Given the description of an element on the screen output the (x, y) to click on. 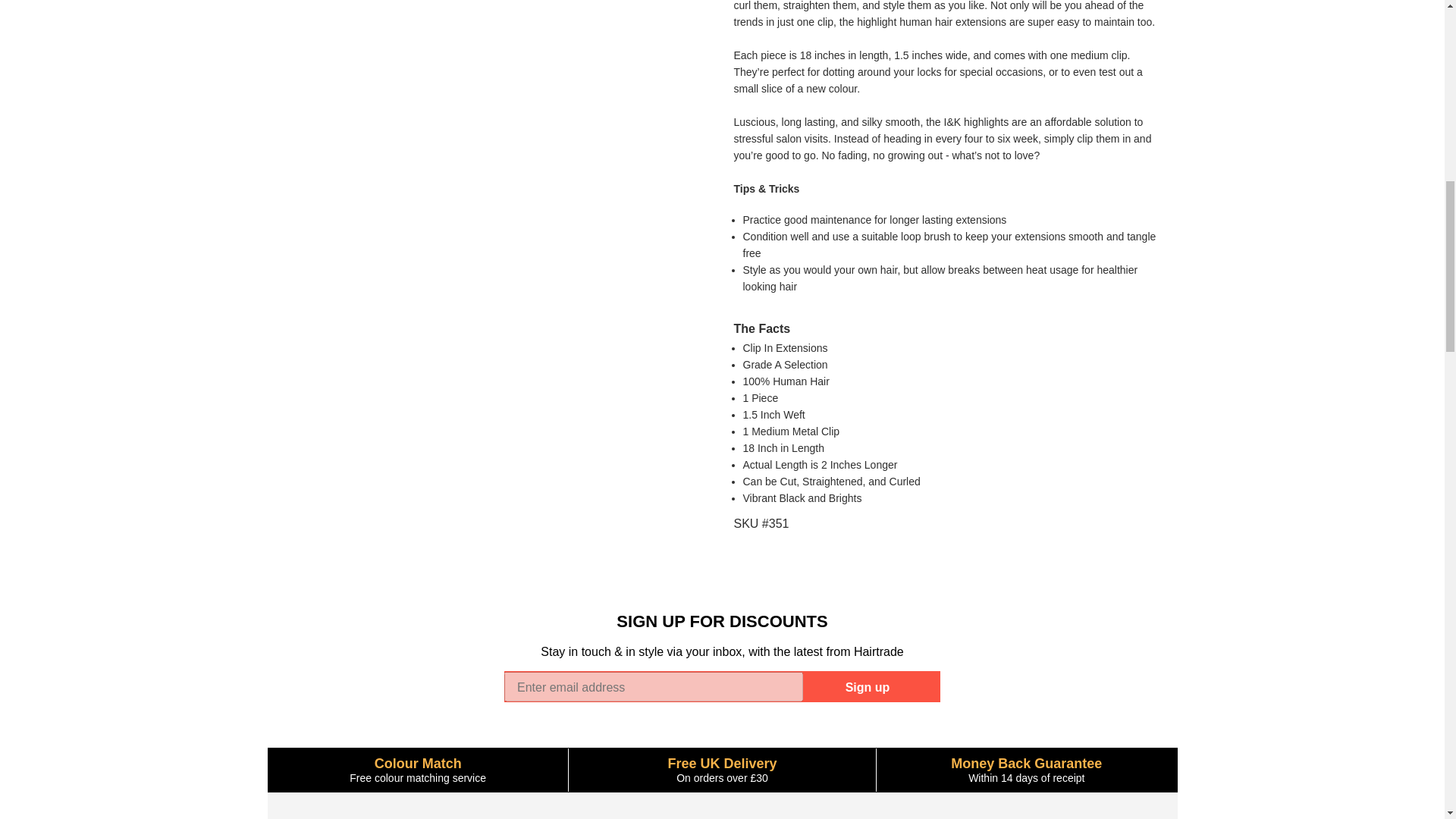
Sign up (867, 685)
